Given the description of an element on the screen output the (x, y) to click on. 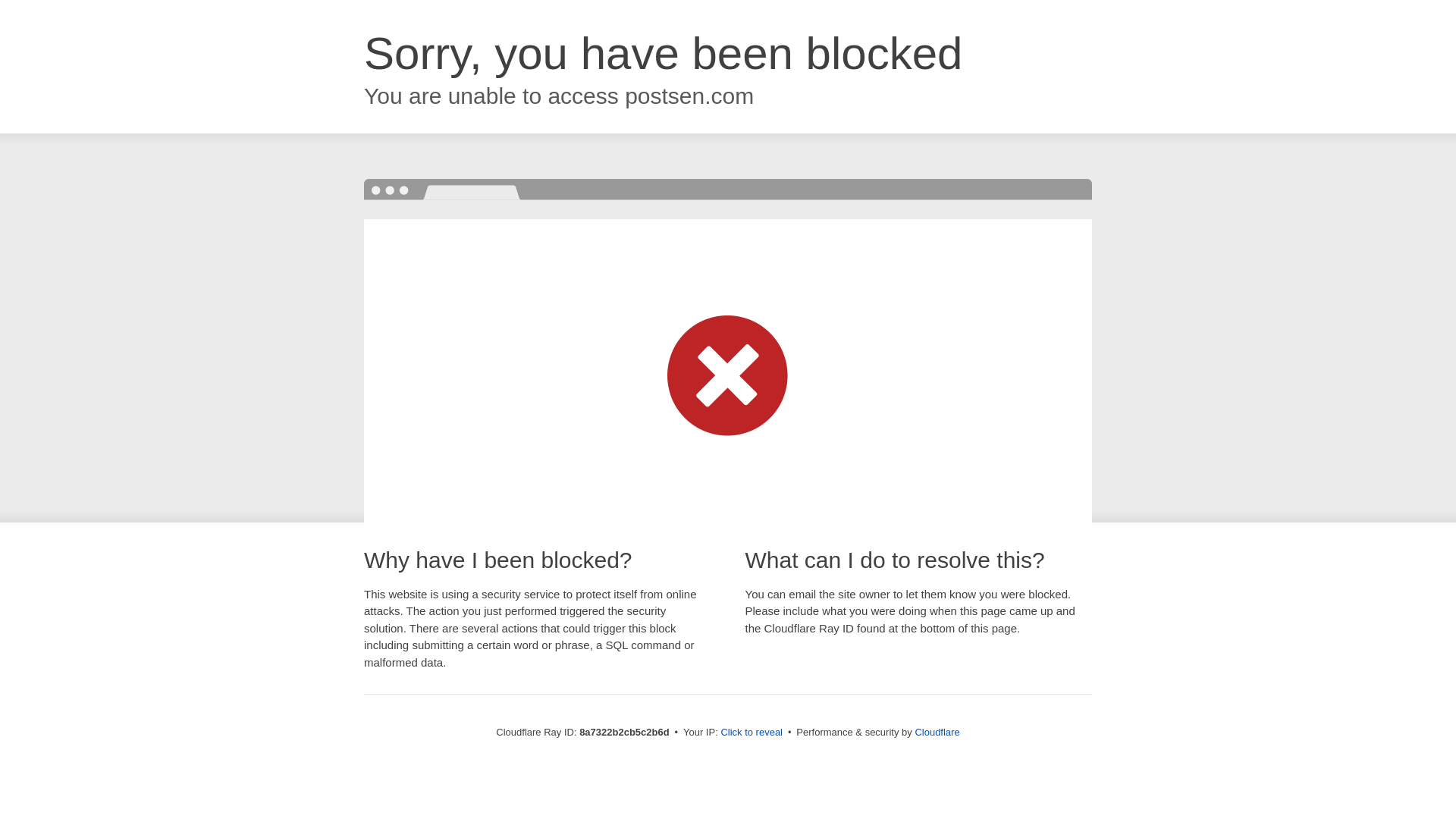
Click to reveal (751, 732)
Cloudflare (936, 731)
